Given the description of an element on the screen output the (x, y) to click on. 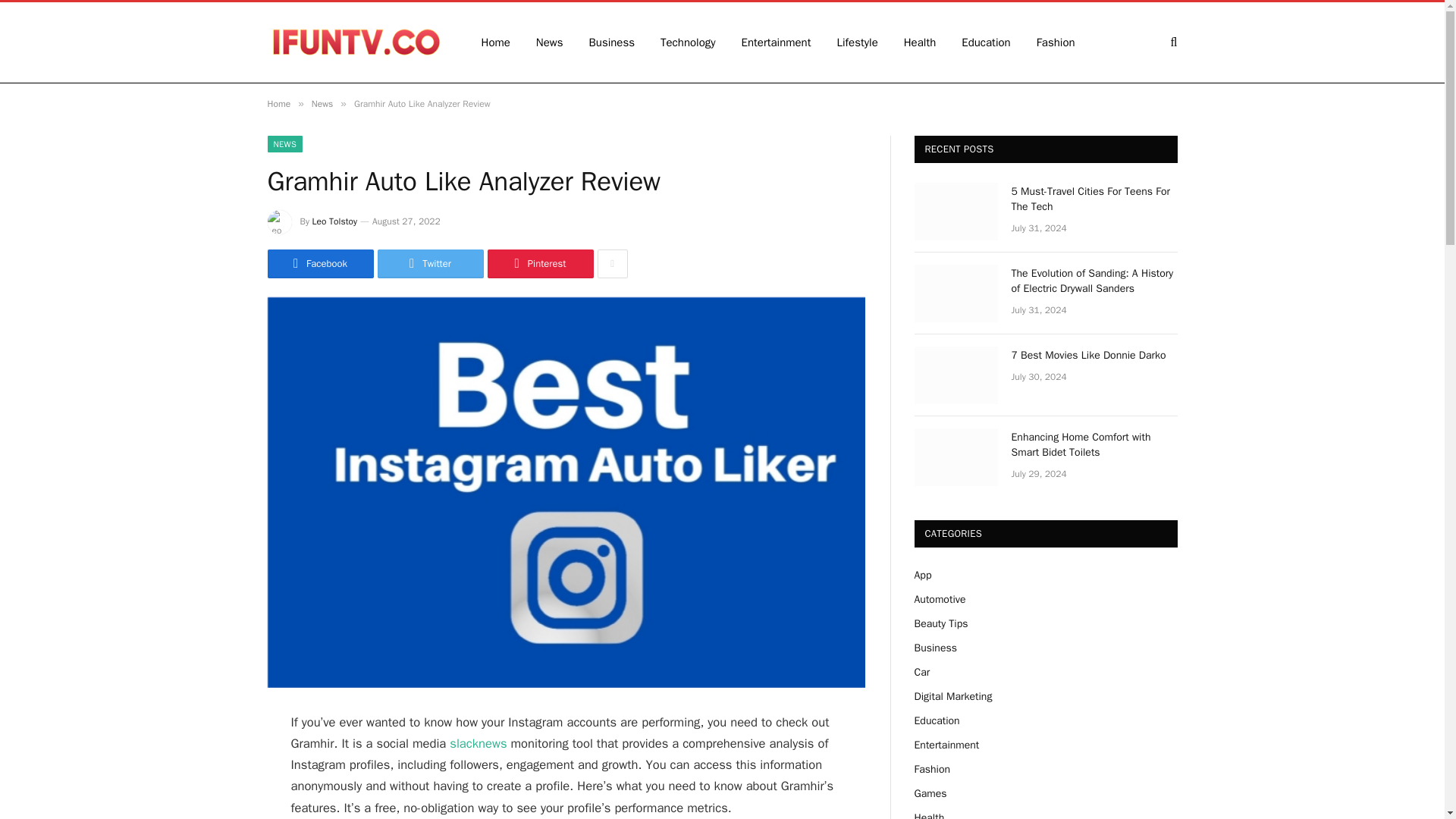
Search (1172, 42)
News (322, 103)
Leo Tolstoy (334, 221)
Posts by Leo Tolstoy (334, 221)
Health (920, 42)
Share on Pinterest (539, 263)
Facebook (319, 263)
Home (495, 42)
slacknews (477, 743)
News (549, 42)
Show More Social Sharing (611, 263)
Education (986, 42)
Business (611, 42)
Home (277, 103)
